Given the description of an element on the screen output the (x, y) to click on. 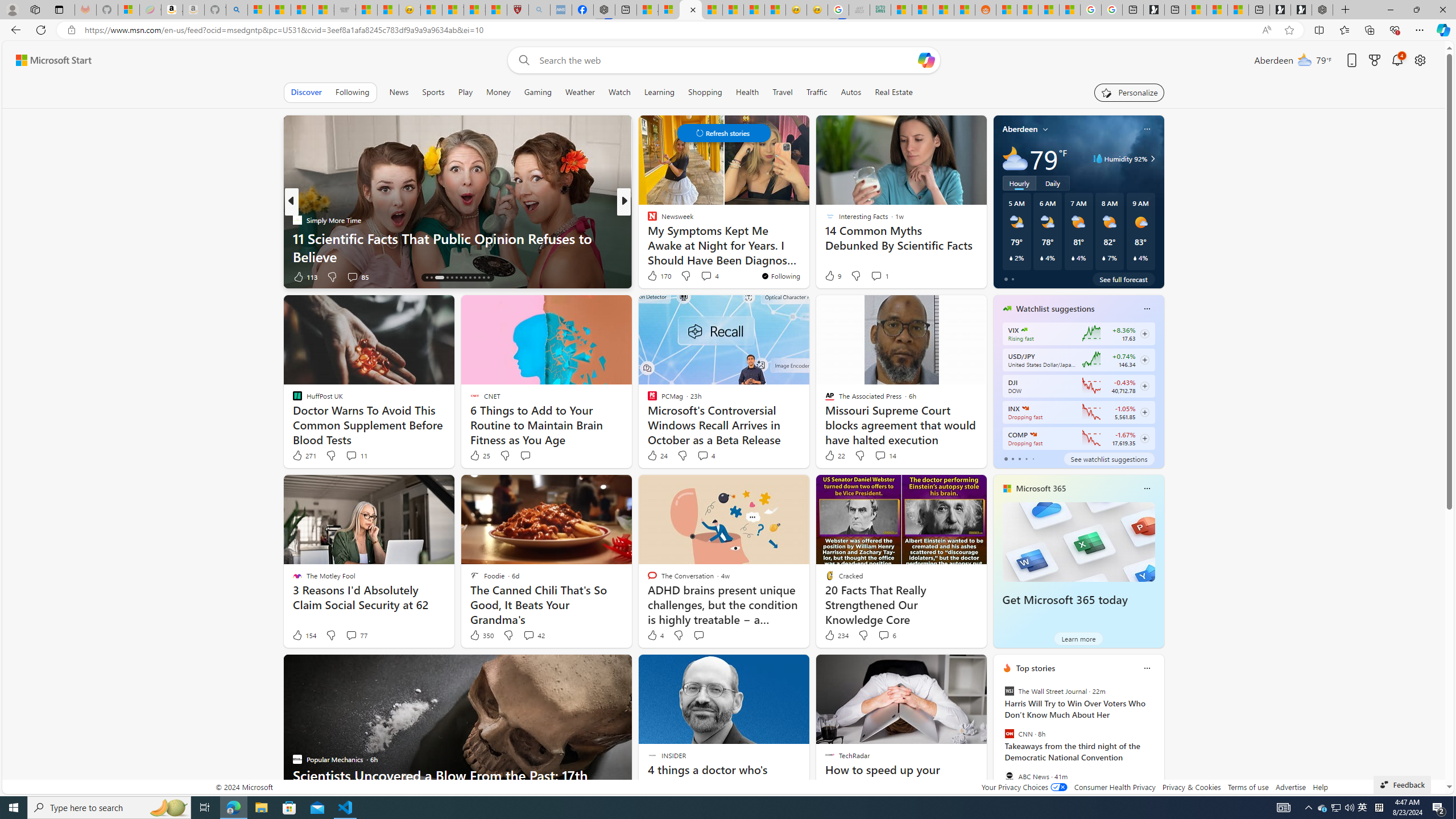
These 3 Stocks Pay You More Than 5% to Own Them (1238, 9)
View comments 11 Comment (355, 455)
Humidity 92% (1150, 158)
View comments 18 Comment (707, 276)
